Given the description of an element on the screen output the (x, y) to click on. 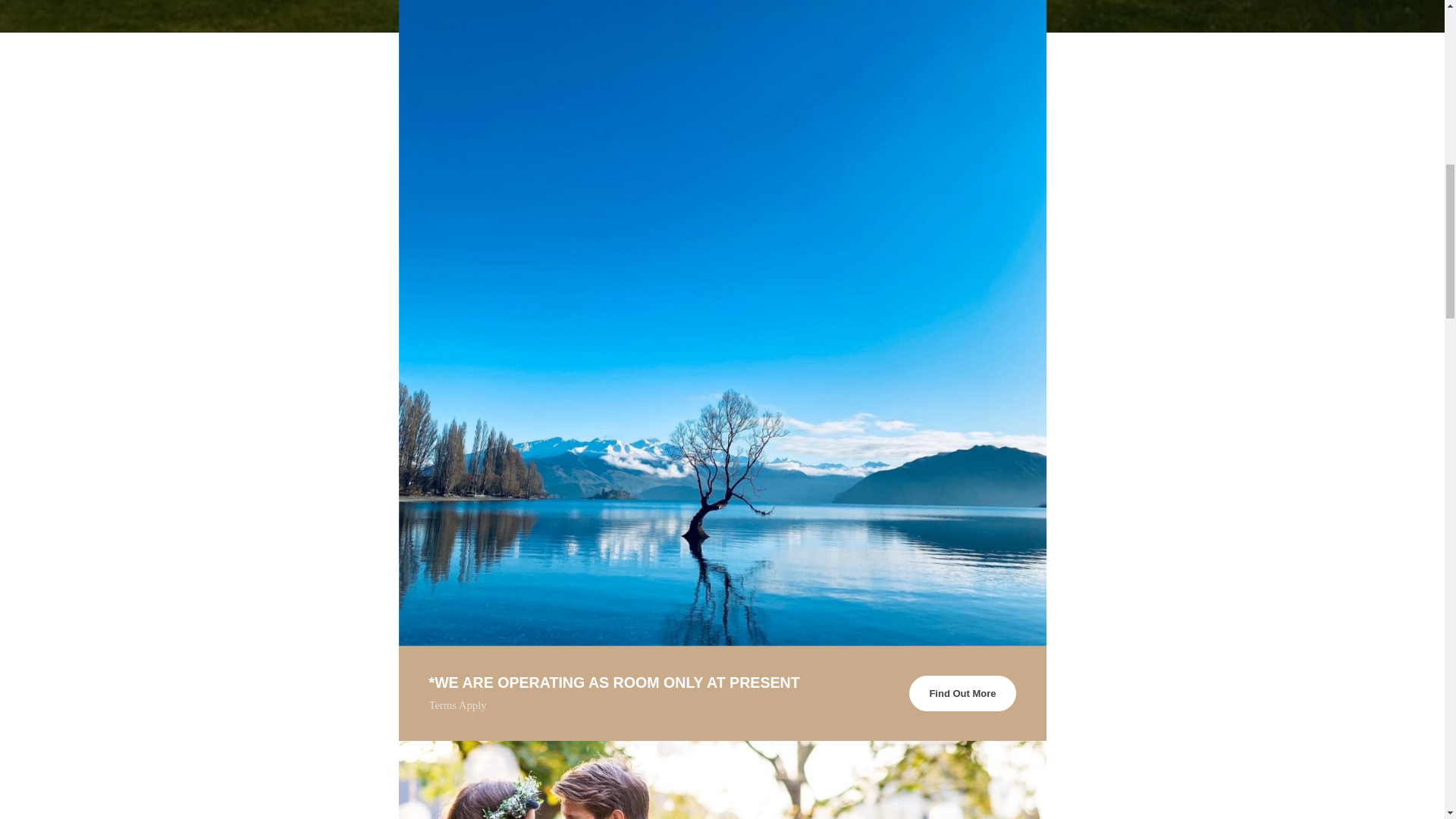
Find Out More (961, 693)
